Given the description of an element on the screen output the (x, y) to click on. 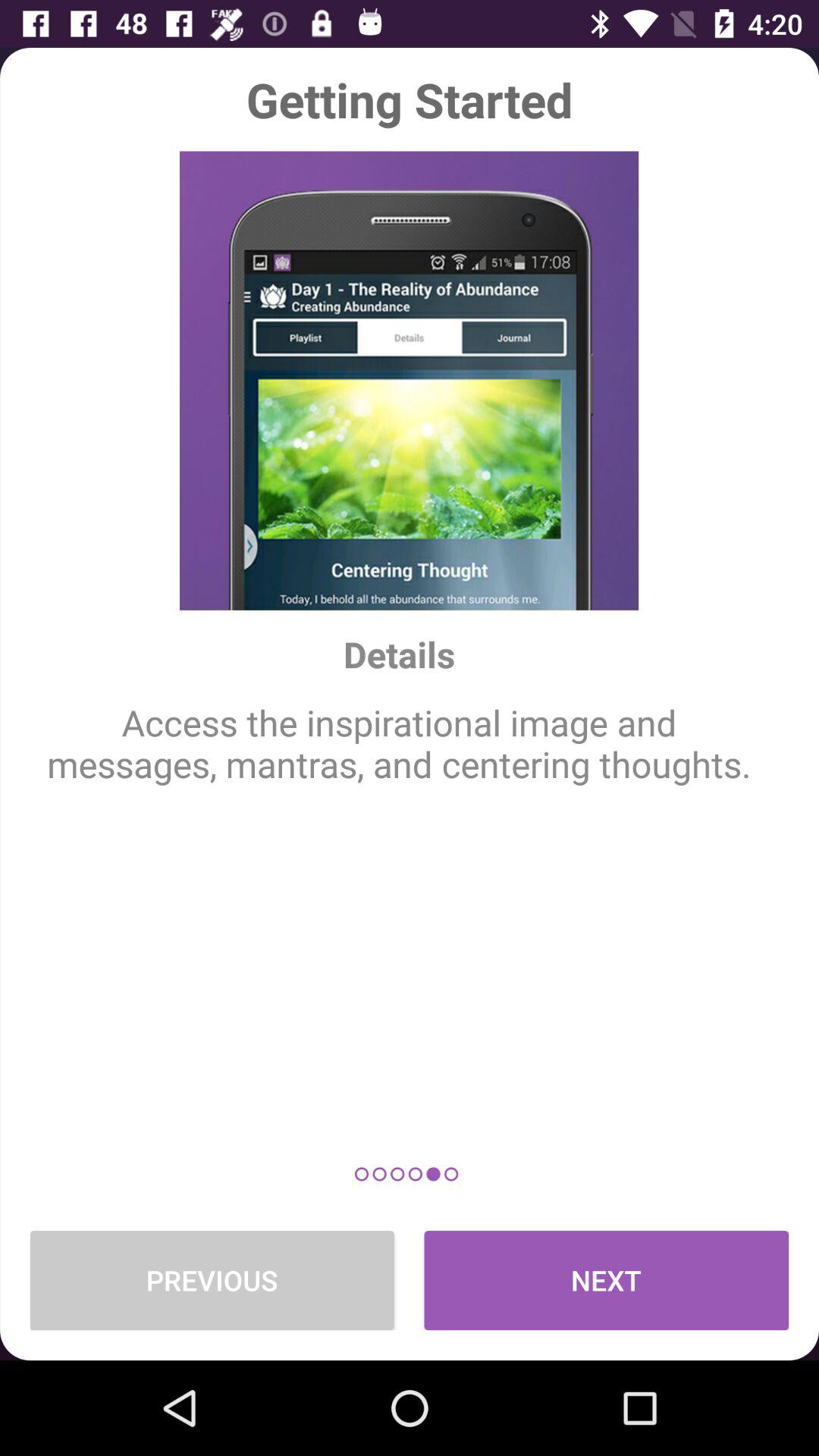
press previous item (212, 1280)
